Given the description of an element on the screen output the (x, y) to click on. 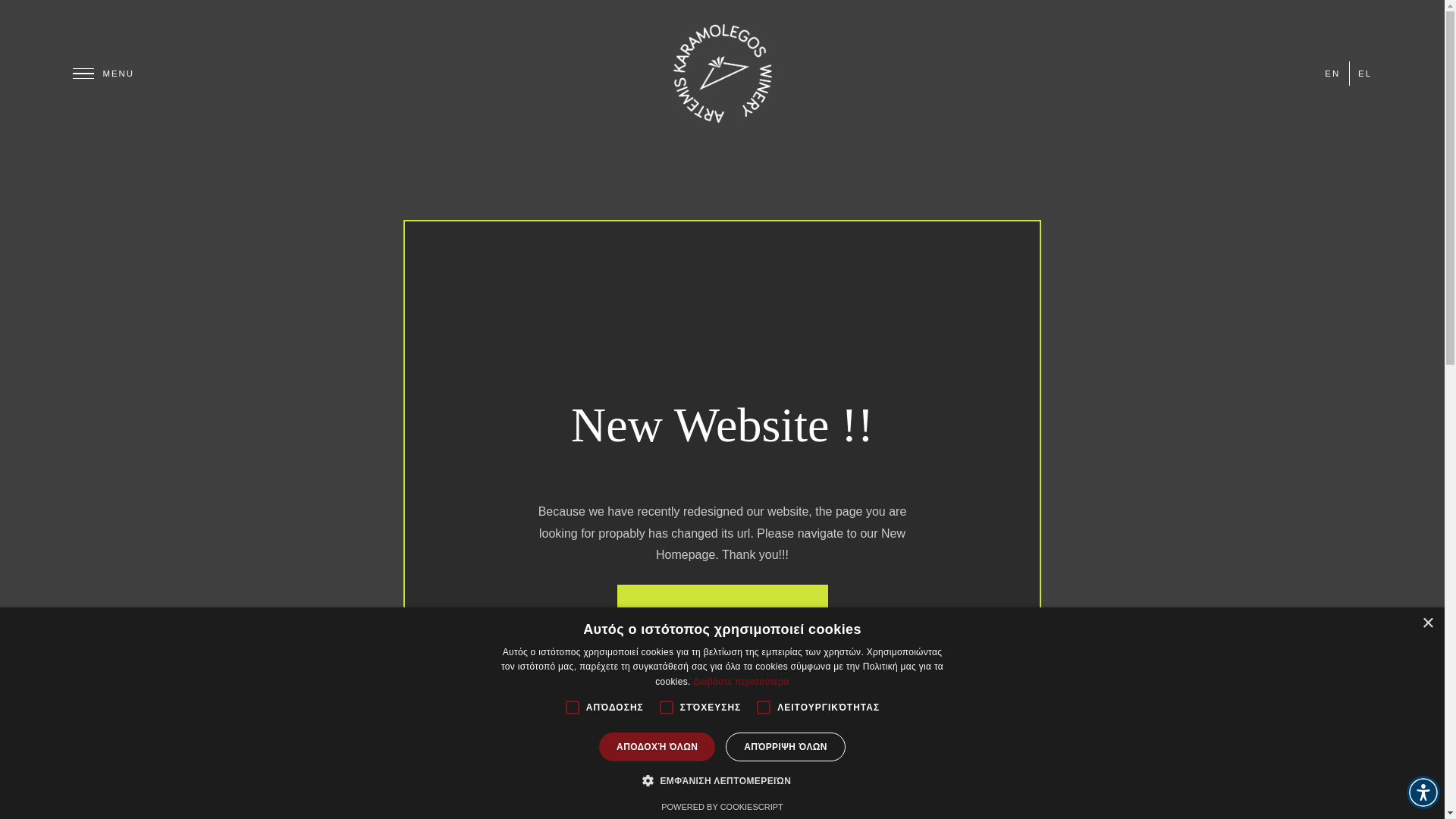
Consent Management Platform (722, 806)
Accessibility Menu (1422, 792)
EL (1364, 72)
EN (1331, 72)
